Given the description of an element on the screen output the (x, y) to click on. 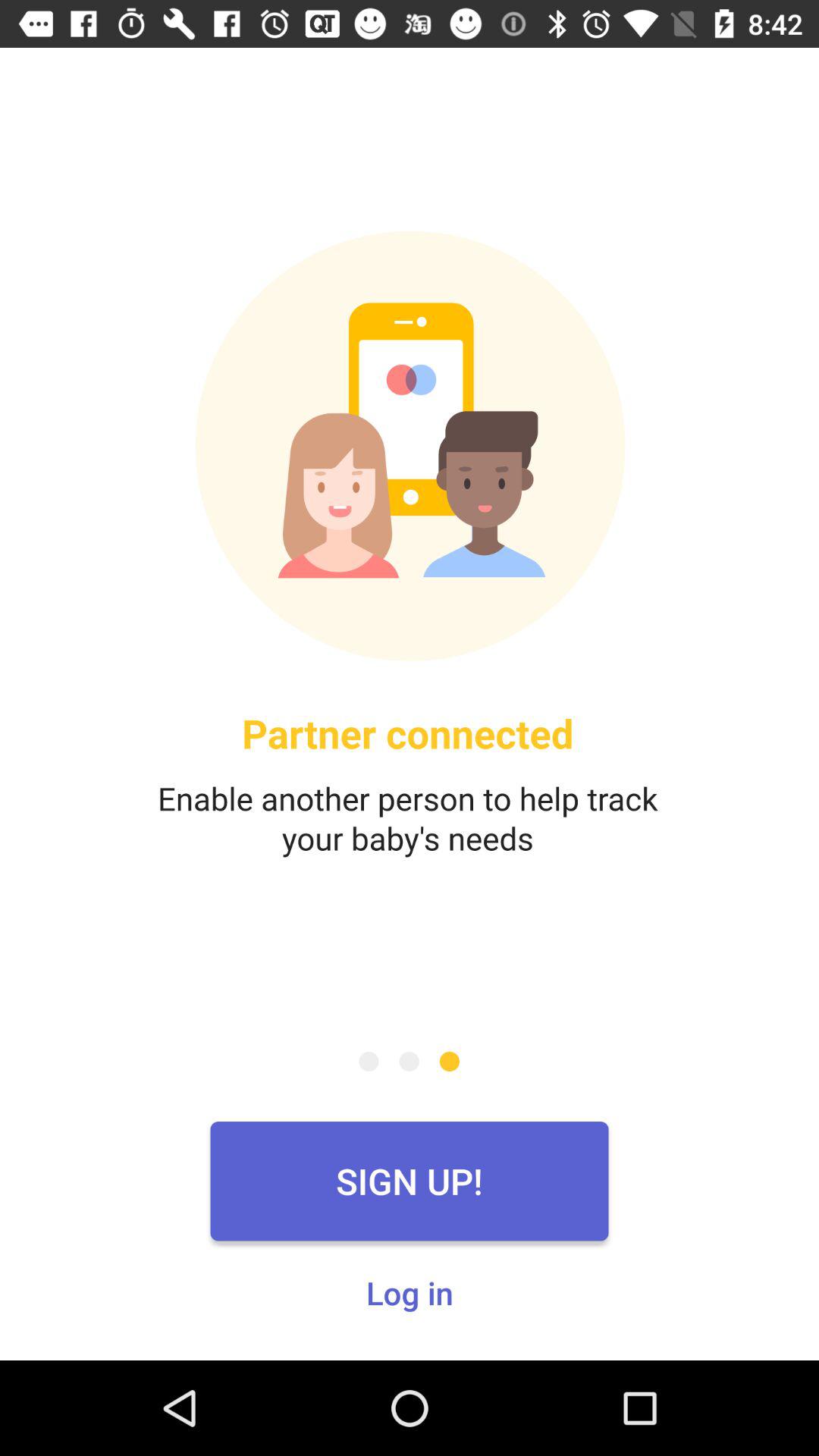
open icon below the sign up! item (409, 1292)
